Given the description of an element on the screen output the (x, y) to click on. 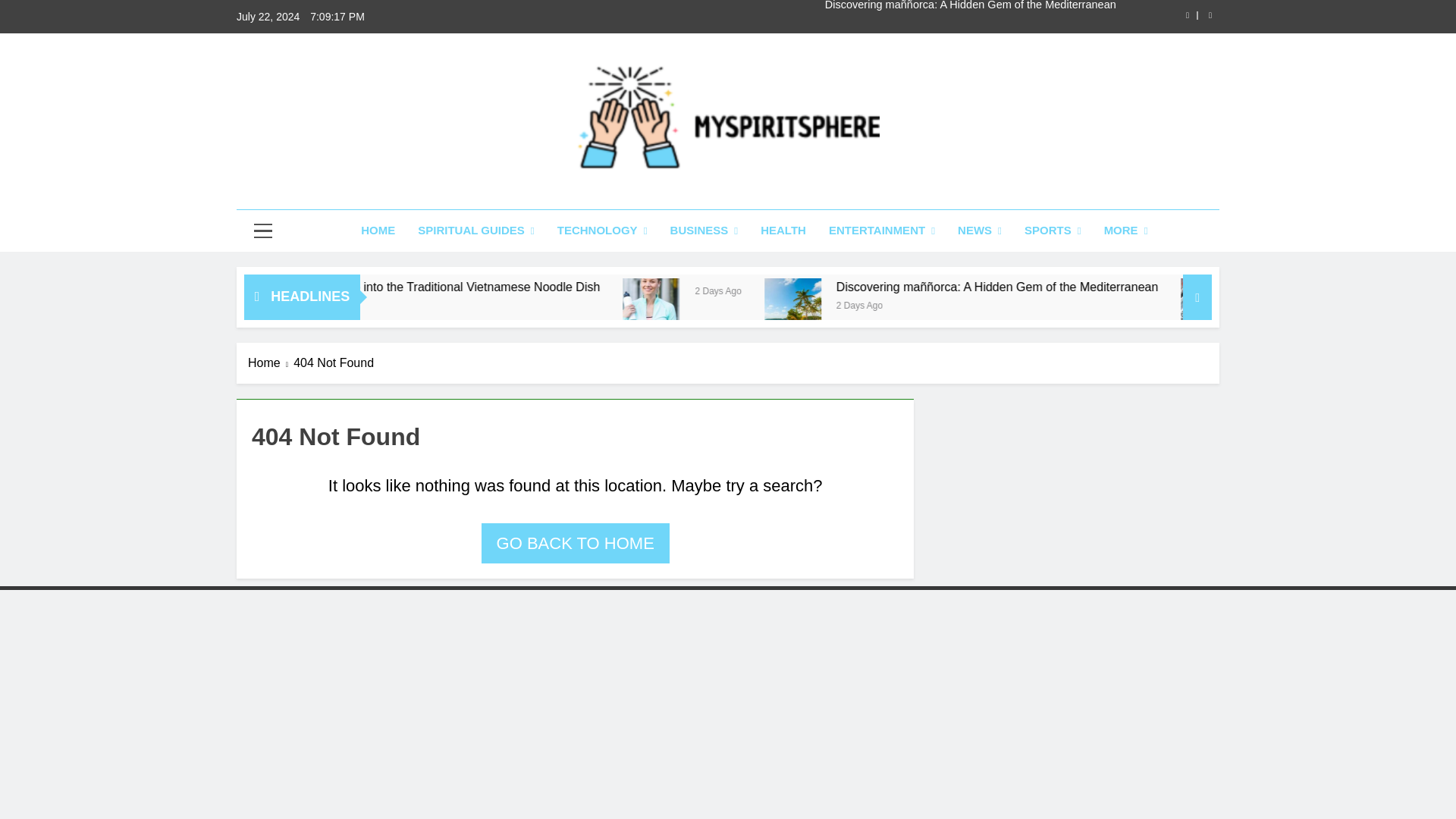
SPORTS (1053, 230)
HEALTH (782, 229)
NEWS (979, 230)
TECHNOLOGY (602, 230)
SPIRITUAL GUIDES (476, 230)
ENTERTAINMENT (881, 230)
MORE (1125, 230)
BUSINESS (704, 230)
HOME (377, 229)
My Spirit Sphere (612, 195)
